Given the description of an element on the screen output the (x, y) to click on. 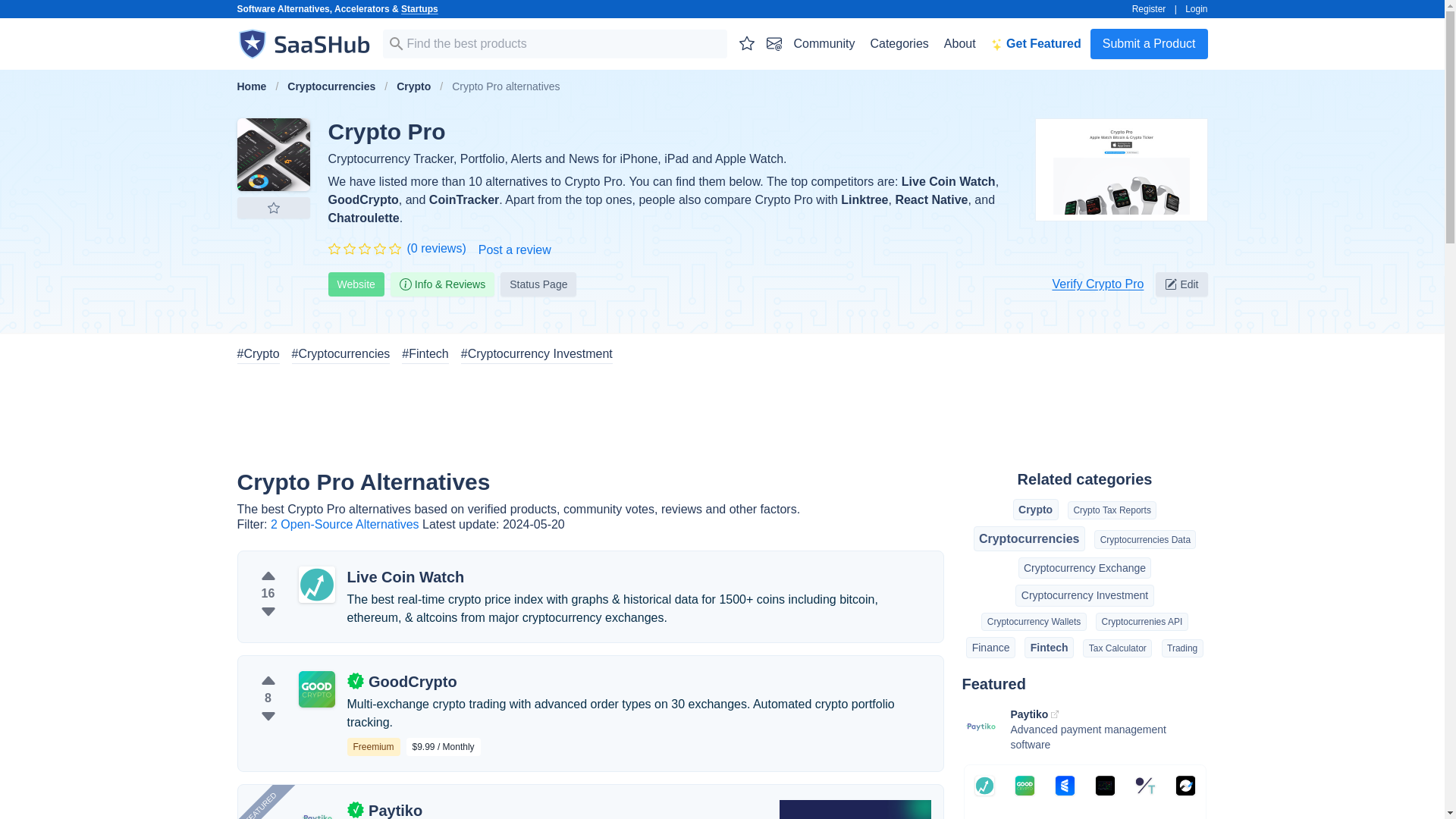
Verify Crypto Pro (1096, 284)
Live Coin Watch (948, 181)
Register (1149, 9)
Live Coin Watch alternatives (405, 577)
Crypto (413, 86)
Live Coin Watch alternatives (316, 584)
Submit a Product (1149, 43)
Website (355, 283)
GoodCrypto alternatives (316, 688)
Crypto Pro status (538, 283)
